Given the description of an element on the screen output the (x, y) to click on. 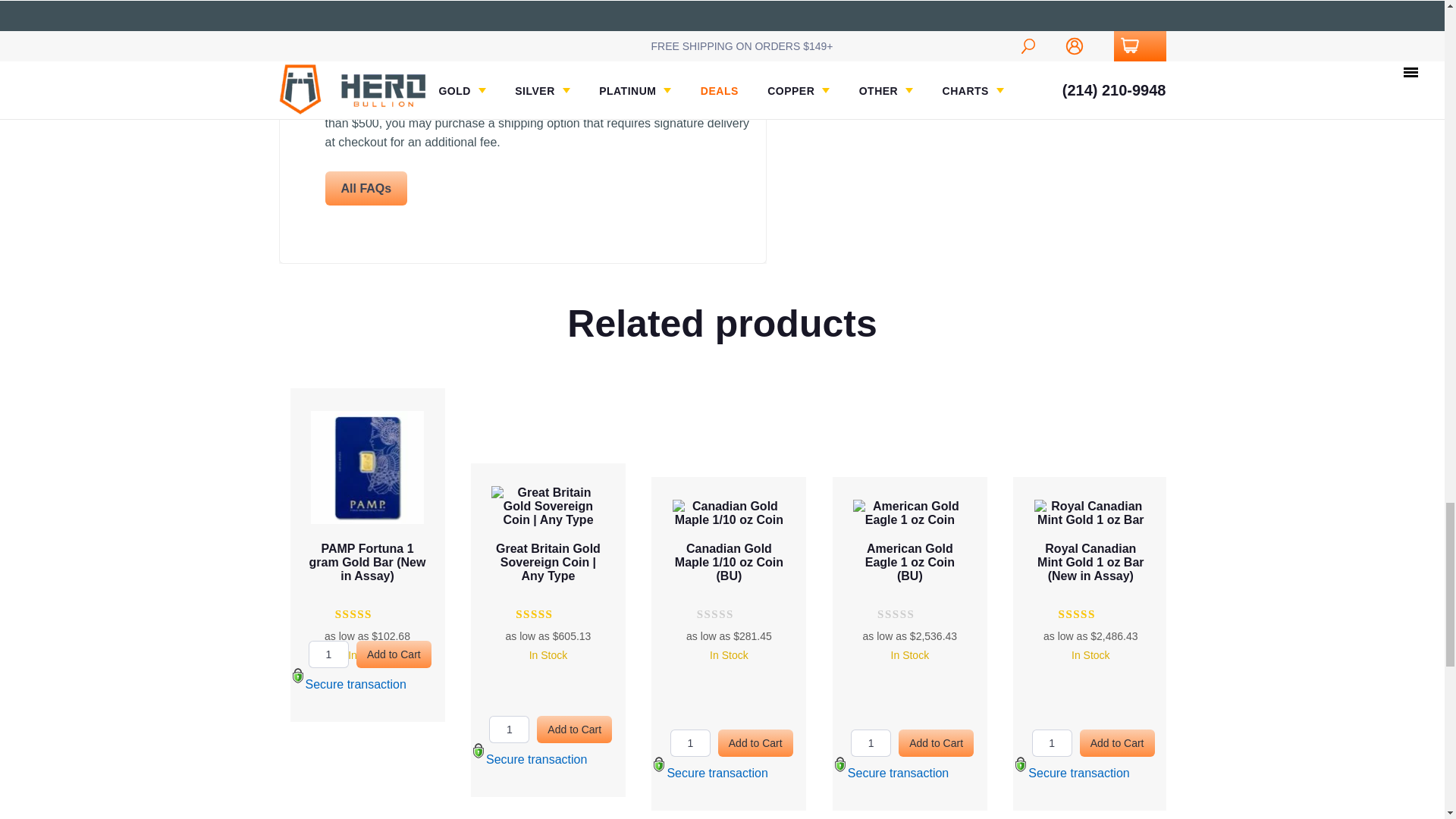
1 (870, 742)
1 (689, 742)
1 (509, 728)
1 (1051, 742)
1 (328, 654)
